Given the description of an element on the screen output the (x, y) to click on. 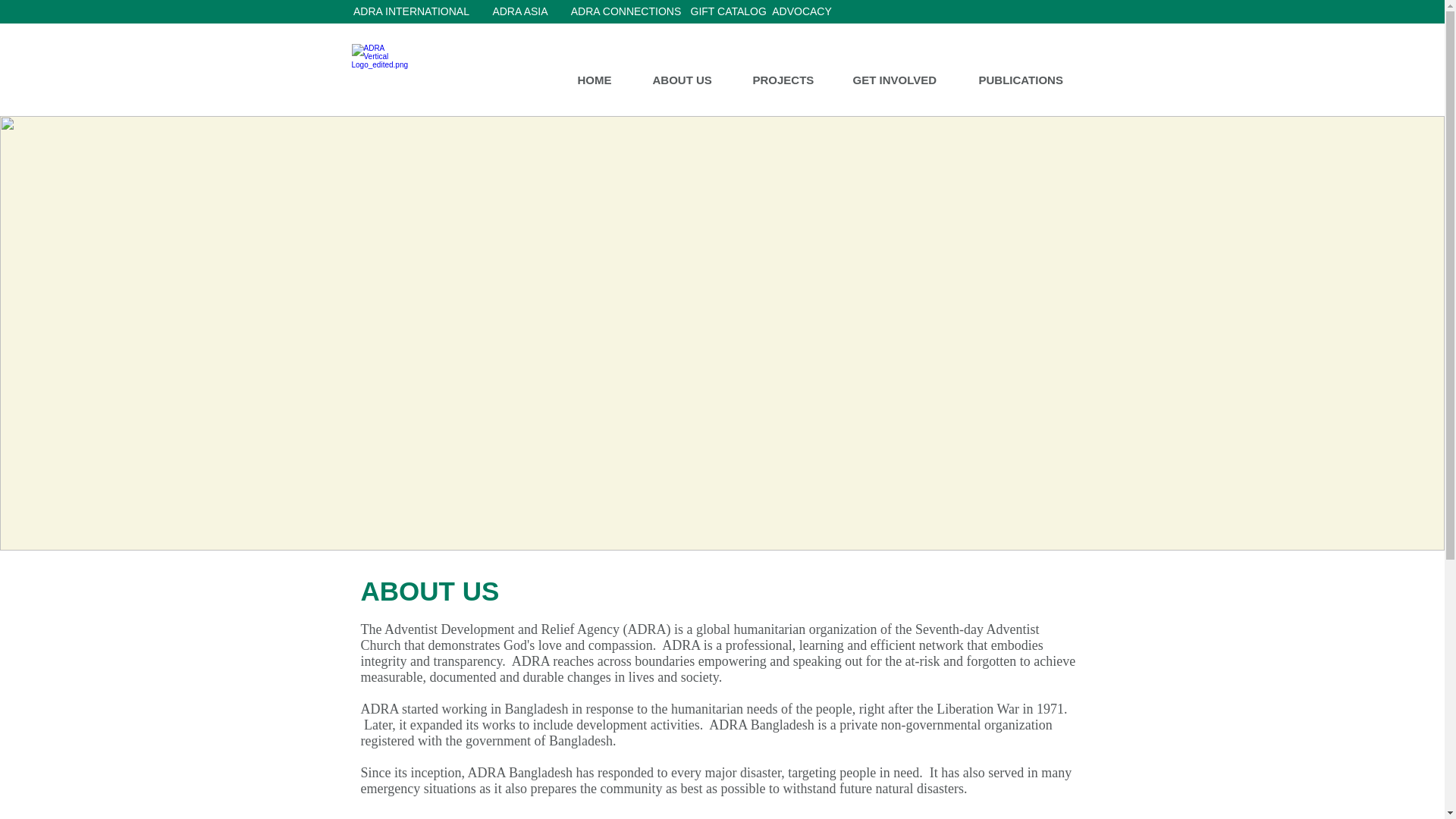
ADRA INTERNATIONAL (411, 11)
PUBLICATIONS (1031, 80)
HOME (603, 80)
ADVOCACY (801, 11)
ADRA CONNECTIONS (626, 11)
GET INVOLVED (904, 80)
PROJECTS (791, 80)
ABOUT US (691, 80)
ADRA ASIA (519, 11)
GIFT CATALOG (727, 11)
